Given the description of an element on the screen output the (x, y) to click on. 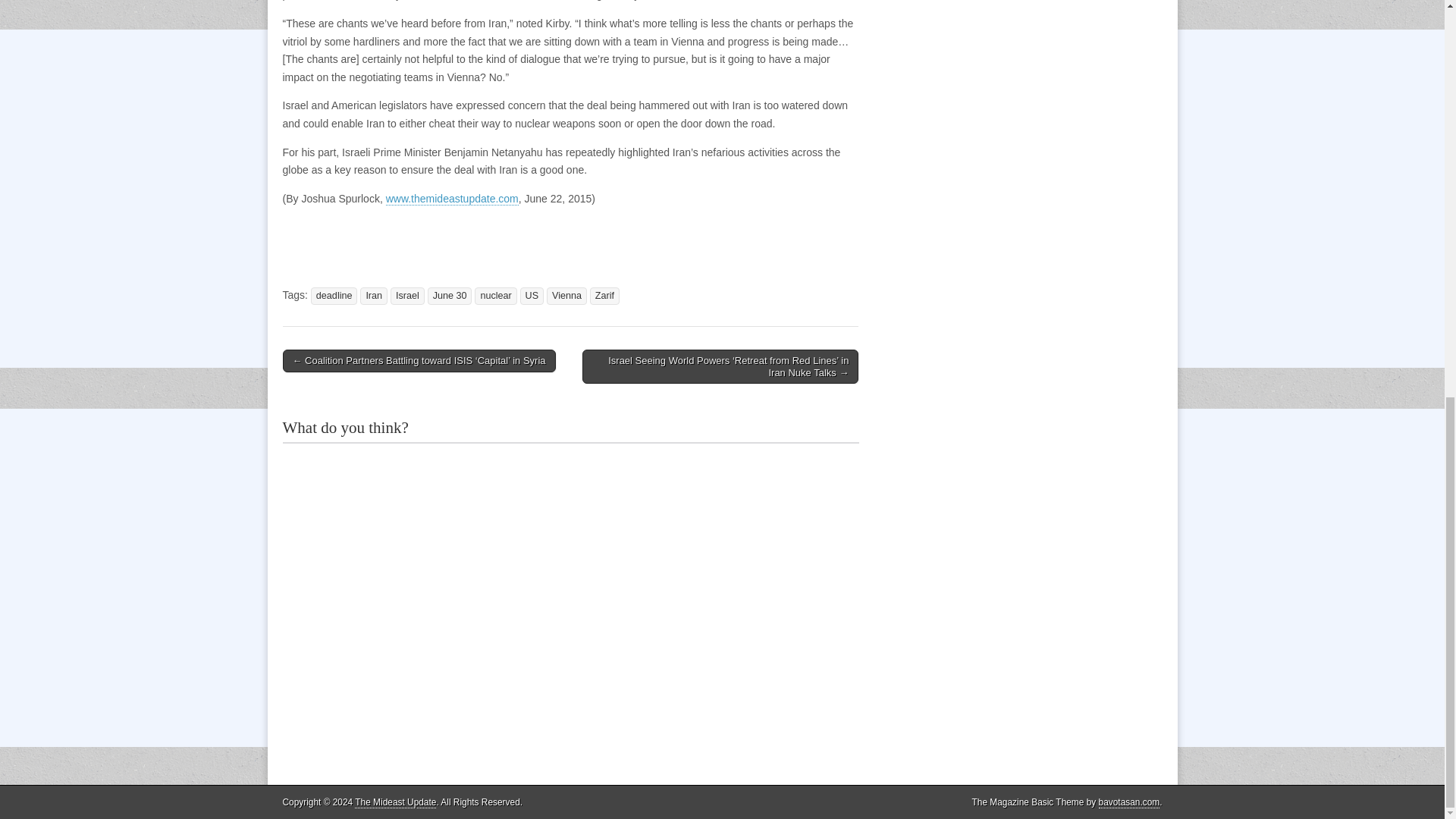
bavotasan.com (1129, 802)
Zarif (604, 295)
nuclear (495, 295)
Iran (373, 295)
Israel (407, 295)
US (531, 295)
Vienna (566, 295)
deadline (334, 295)
www.themideastupdate.com (451, 198)
June 30 (449, 295)
The Mideast Update (395, 802)
